Given the description of an element on the screen output the (x, y) to click on. 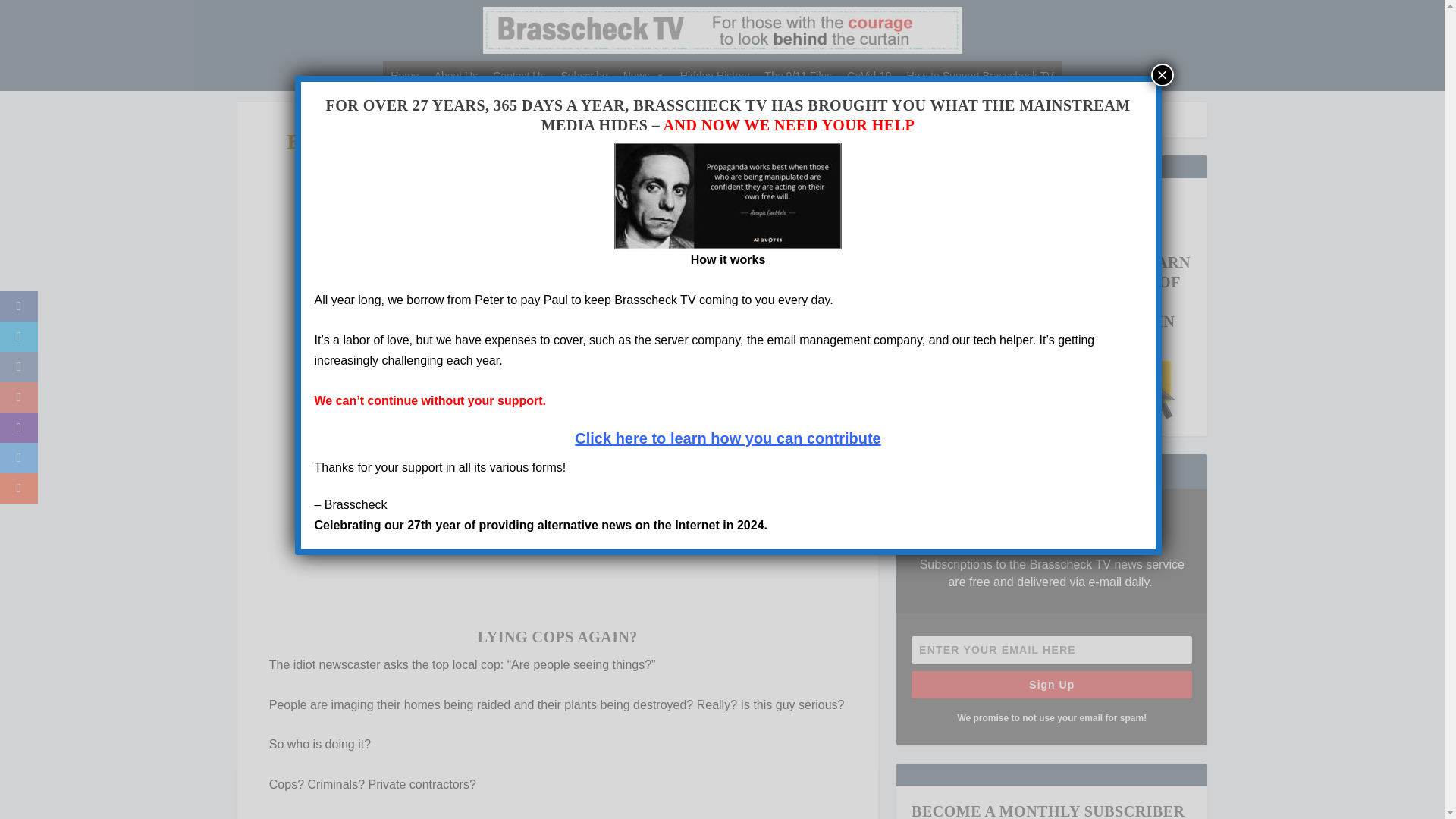
About Us (456, 75)
News (643, 75)
Search (31, 13)
Subscribe (583, 75)
Contact Us (518, 75)
Sign Up (1051, 684)
Home (404, 75)
CoVid-19 (869, 75)
Hidden History (714, 75)
How to Support Brasscheck TV (979, 75)
